Given the description of an element on the screen output the (x, y) to click on. 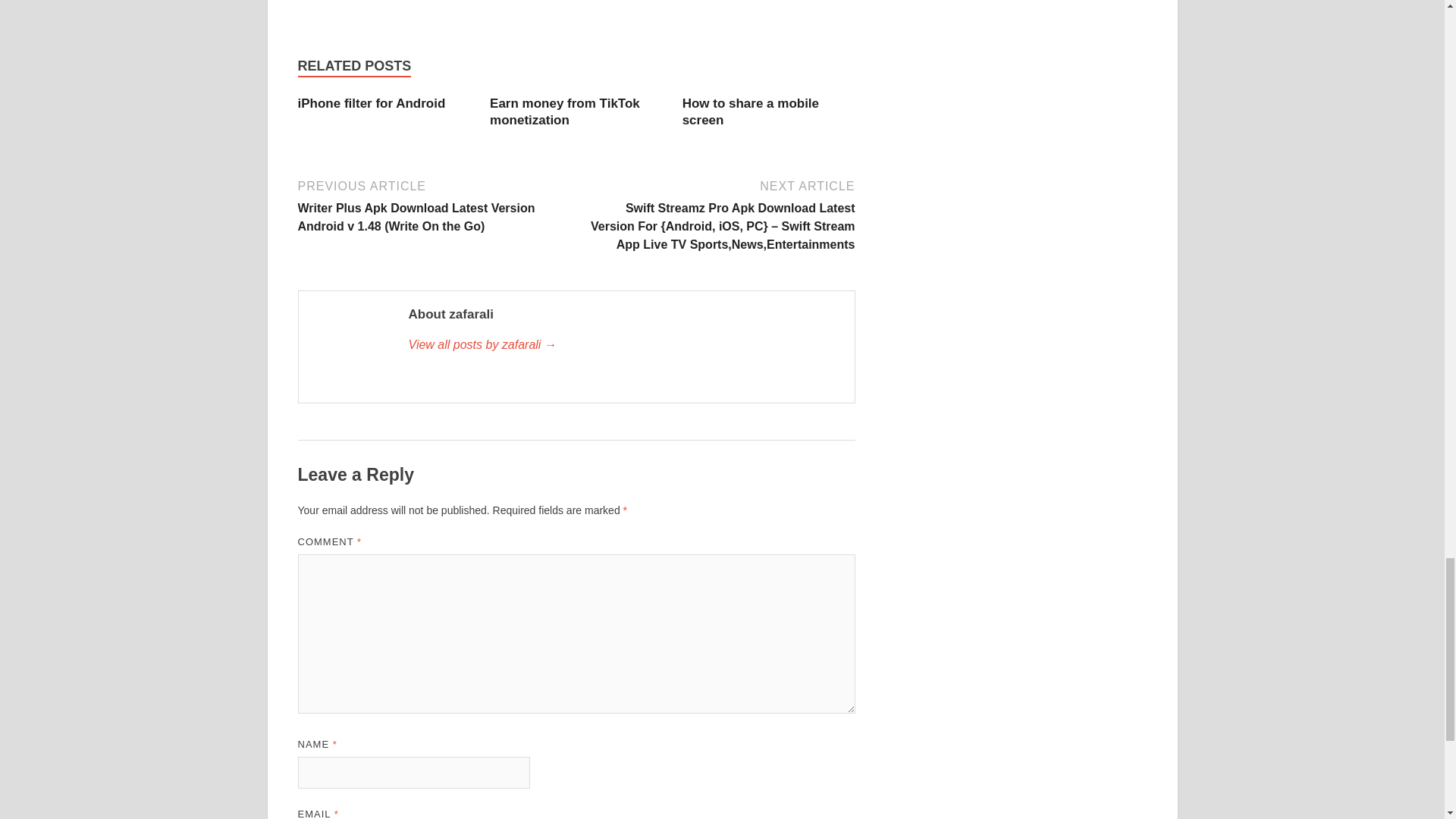
iPhone filter for Android (371, 103)
Earn money from TikTok monetization (564, 111)
zafarali (622, 344)
Earn money from TikTok monetization (564, 111)
How to share a mobile screen (750, 111)
How to share a mobile screen (750, 111)
iPhone filter for Android (371, 103)
